Given the description of an element on the screen output the (x, y) to click on. 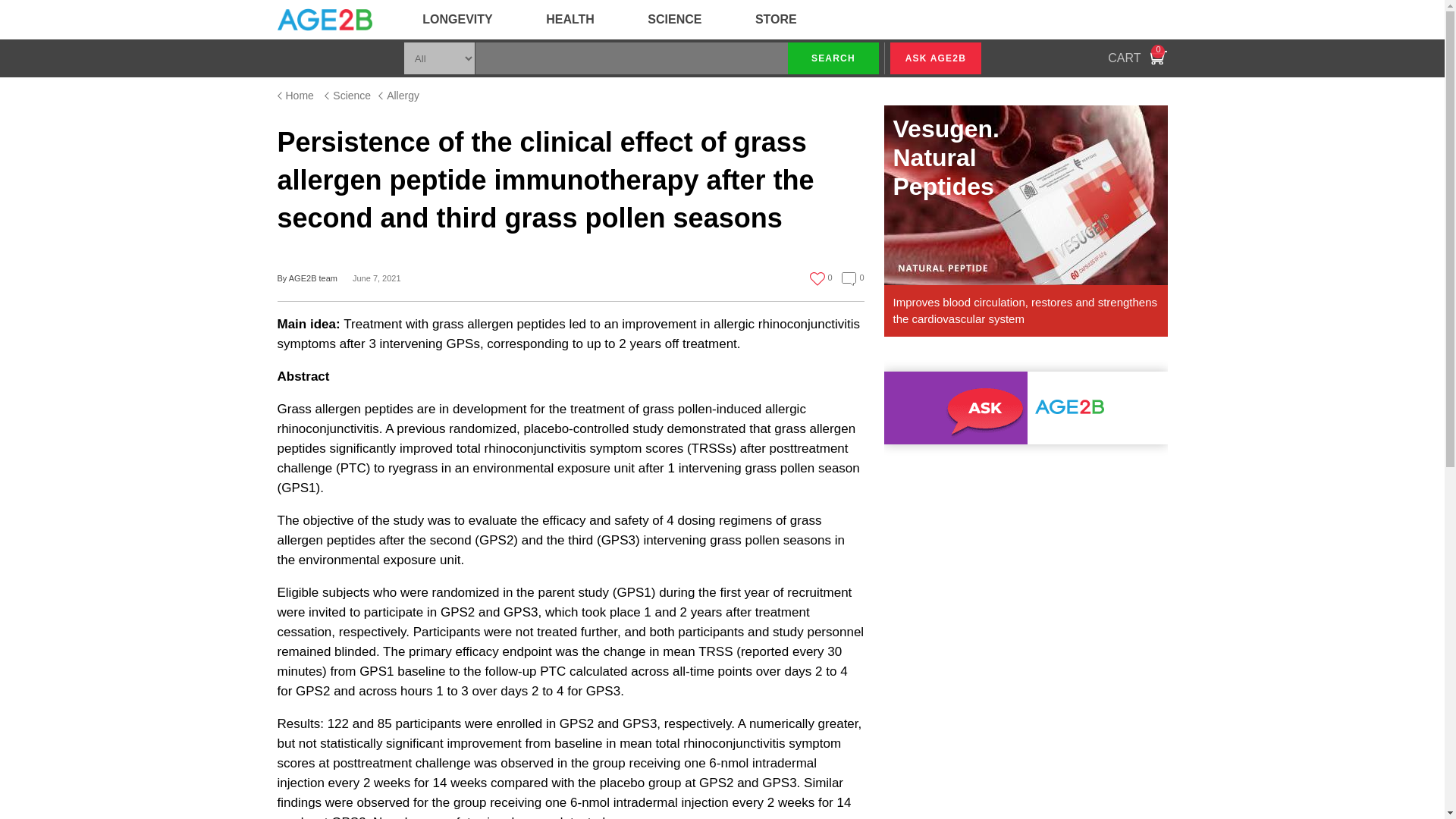
LONGEVITY (457, 19)
SCIENCE (674, 19)
Science (347, 95)
HEALTH (1137, 57)
ASK AGE2B (570, 19)
STORE (935, 58)
SEARCH (775, 19)
Home (833, 58)
Allergy (296, 95)
